Given the description of an element on the screen output the (x, y) to click on. 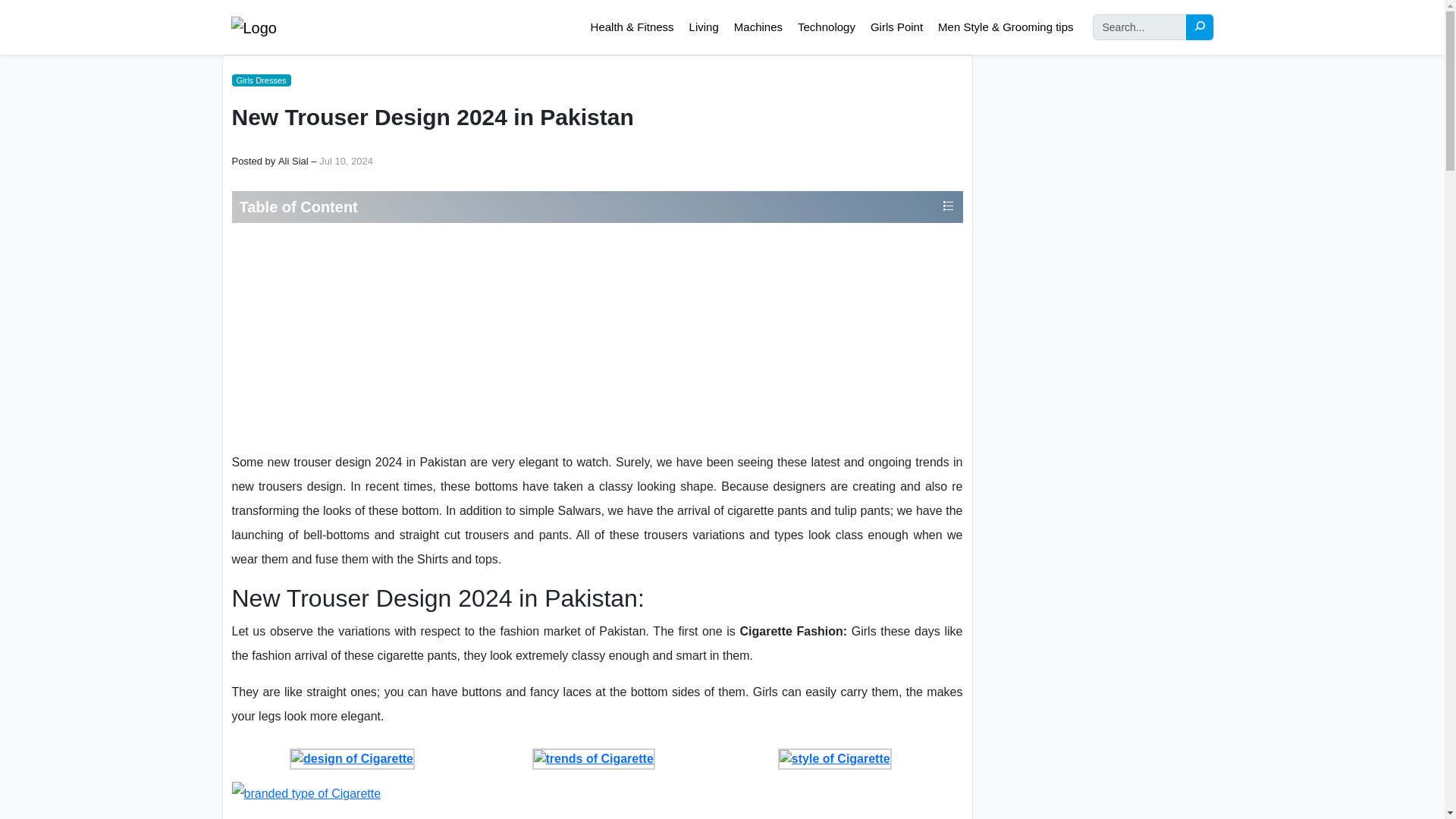
Machines (758, 26)
Living (703, 26)
Girls Point (896, 26)
Advertisement (596, 336)
Girls Dresses (261, 80)
Technology (826, 26)
